Given the description of an element on the screen output the (x, y) to click on. 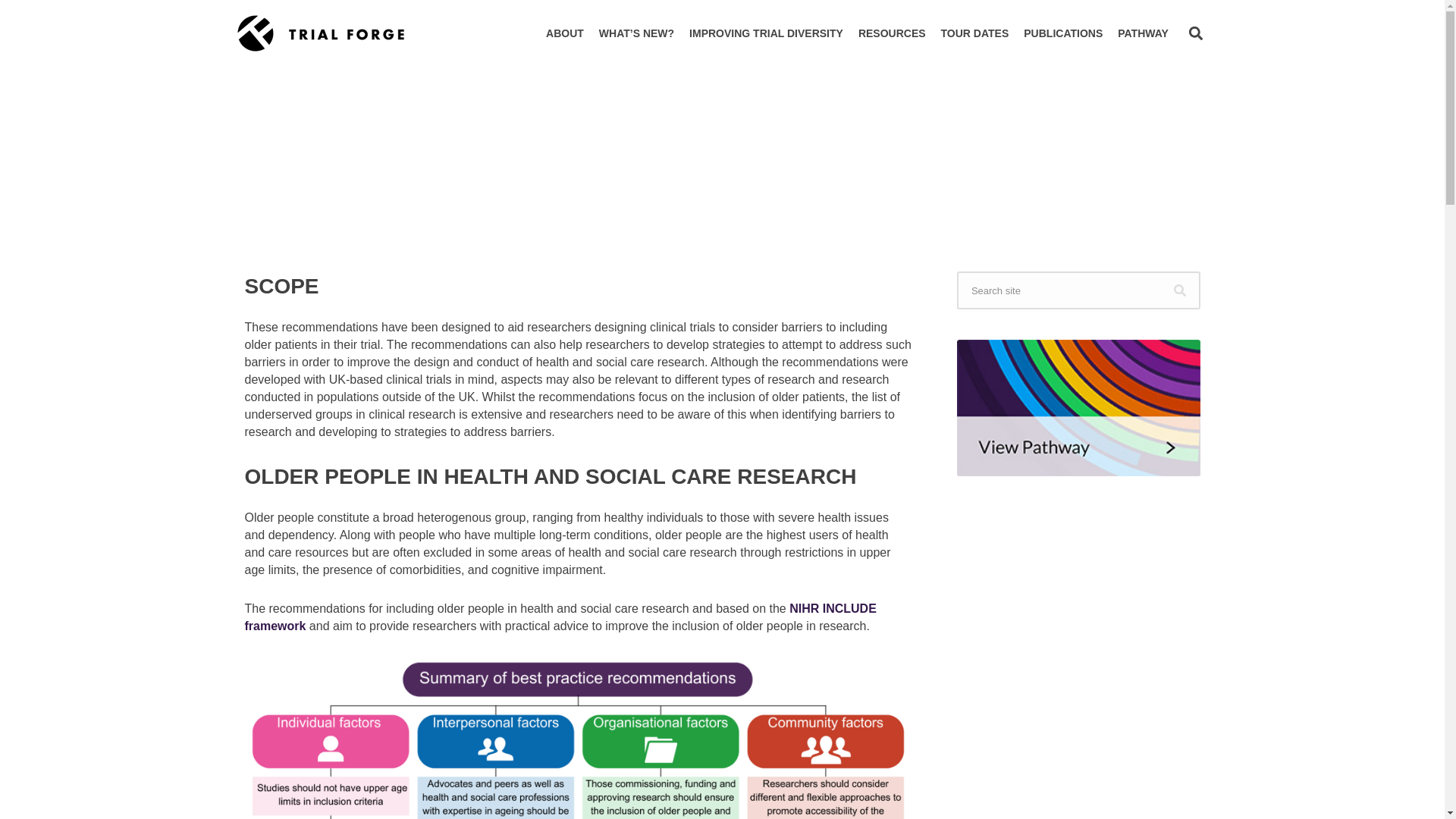
IMPROVING TRIAL DIVERSITY (765, 32)
RESOURCES (891, 32)
TOUR DATES (974, 32)
PATHWAY (1142, 32)
PUBLICATIONS (1062, 32)
ABOUT (564, 32)
